Given the description of an element on the screen output the (x, y) to click on. 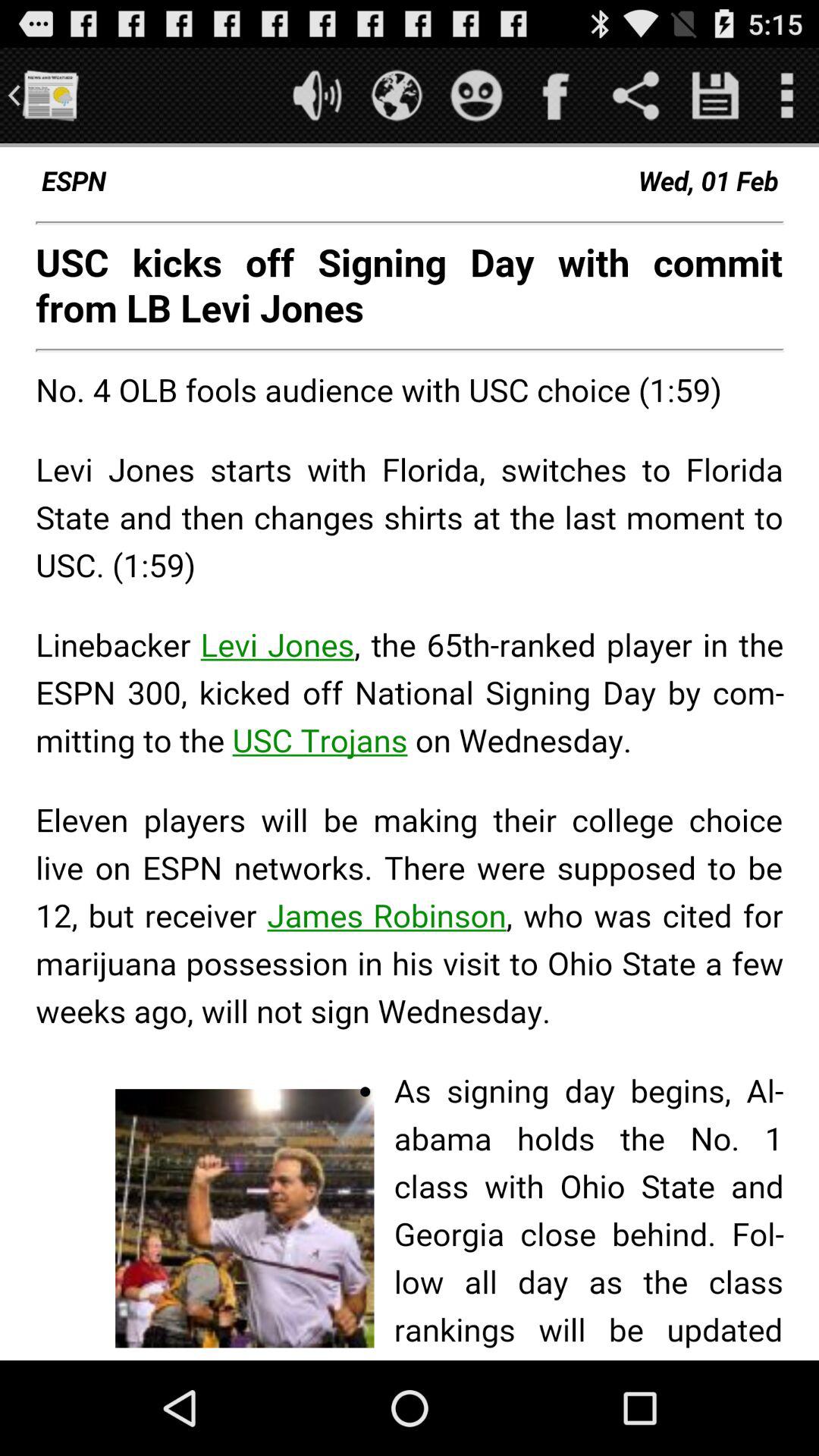
share to facebook (556, 95)
